Given the description of an element on the screen output the (x, y) to click on. 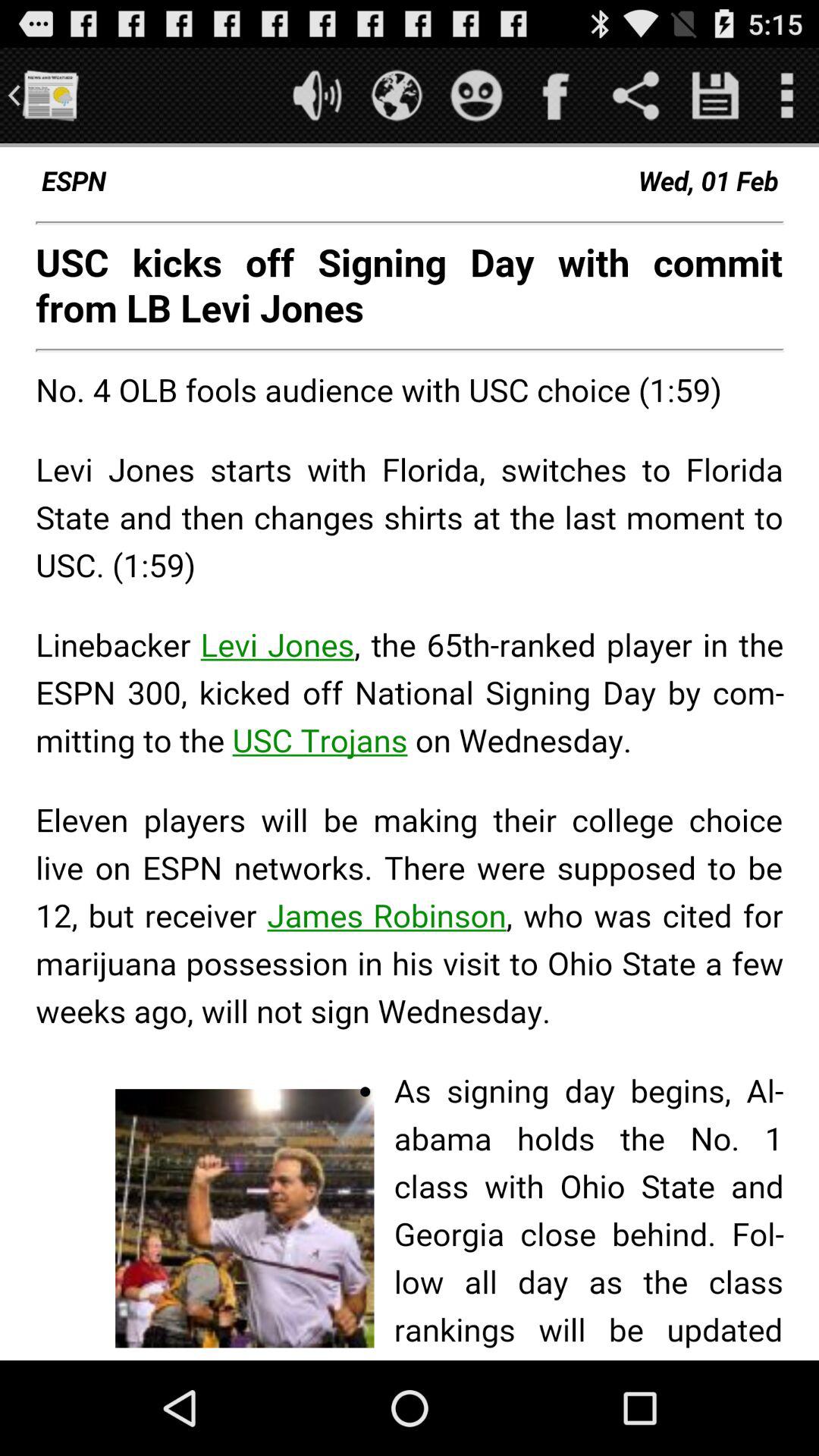
share to facebook (556, 95)
